Given the description of an element on the screen output the (x, y) to click on. 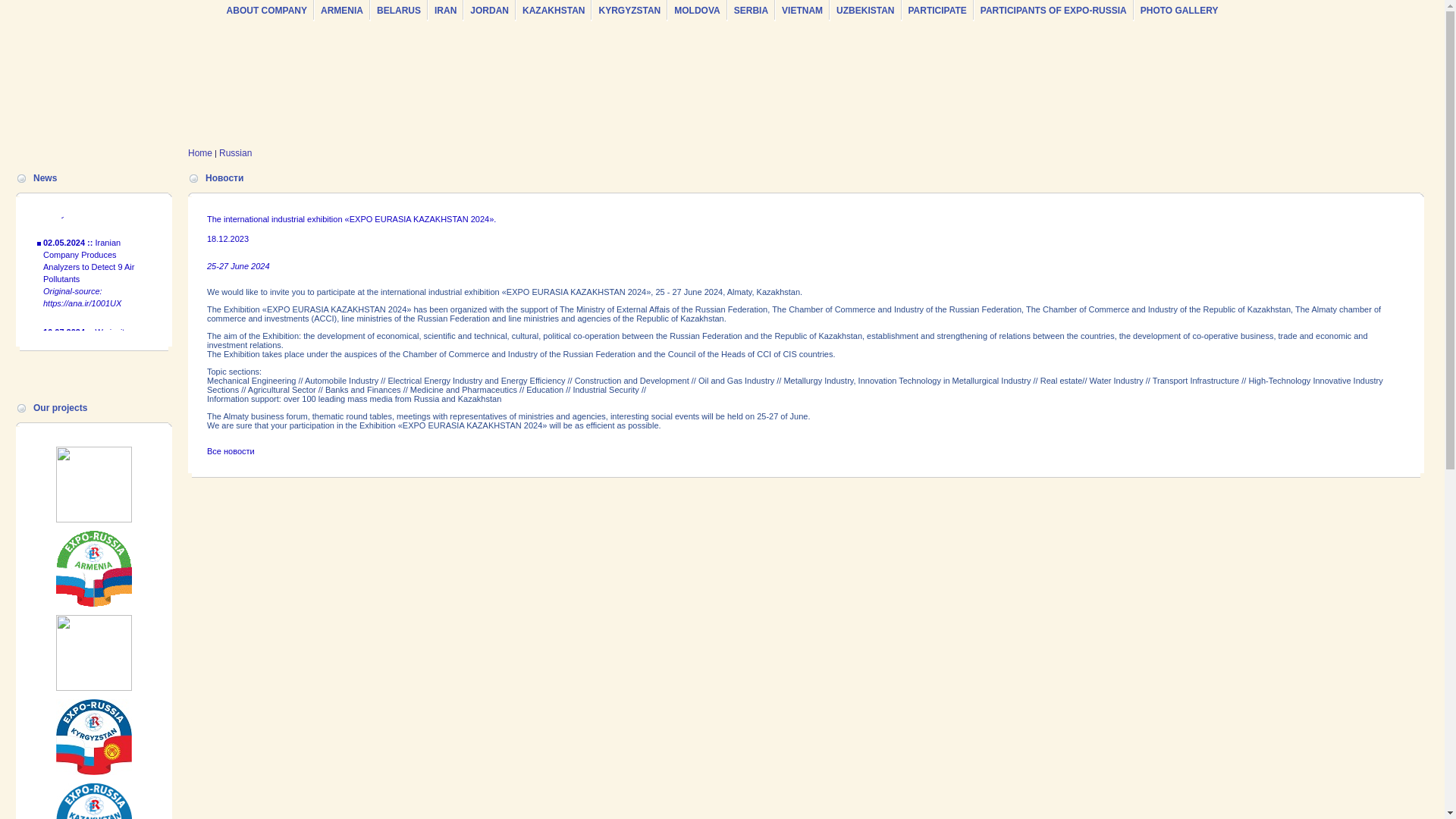
KAZAKHSTAN (553, 9)
ABOUT COMPANY (267, 9)
BELARUS (398, 9)
KYRGYZSTAN (629, 9)
SERBIA (750, 9)
Home (199, 153)
JORDAN (489, 9)
IRAN (445, 9)
ARMENIA (341, 9)
MOLDOVA (696, 9)
